Given the description of an element on the screen output the (x, y) to click on. 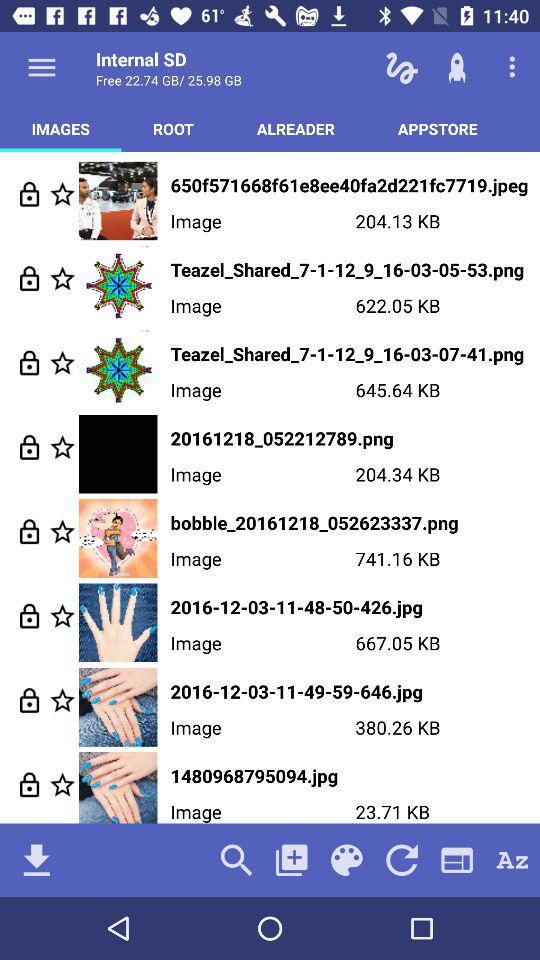
favorite button (62, 278)
